Given the description of an element on the screen output the (x, y) to click on. 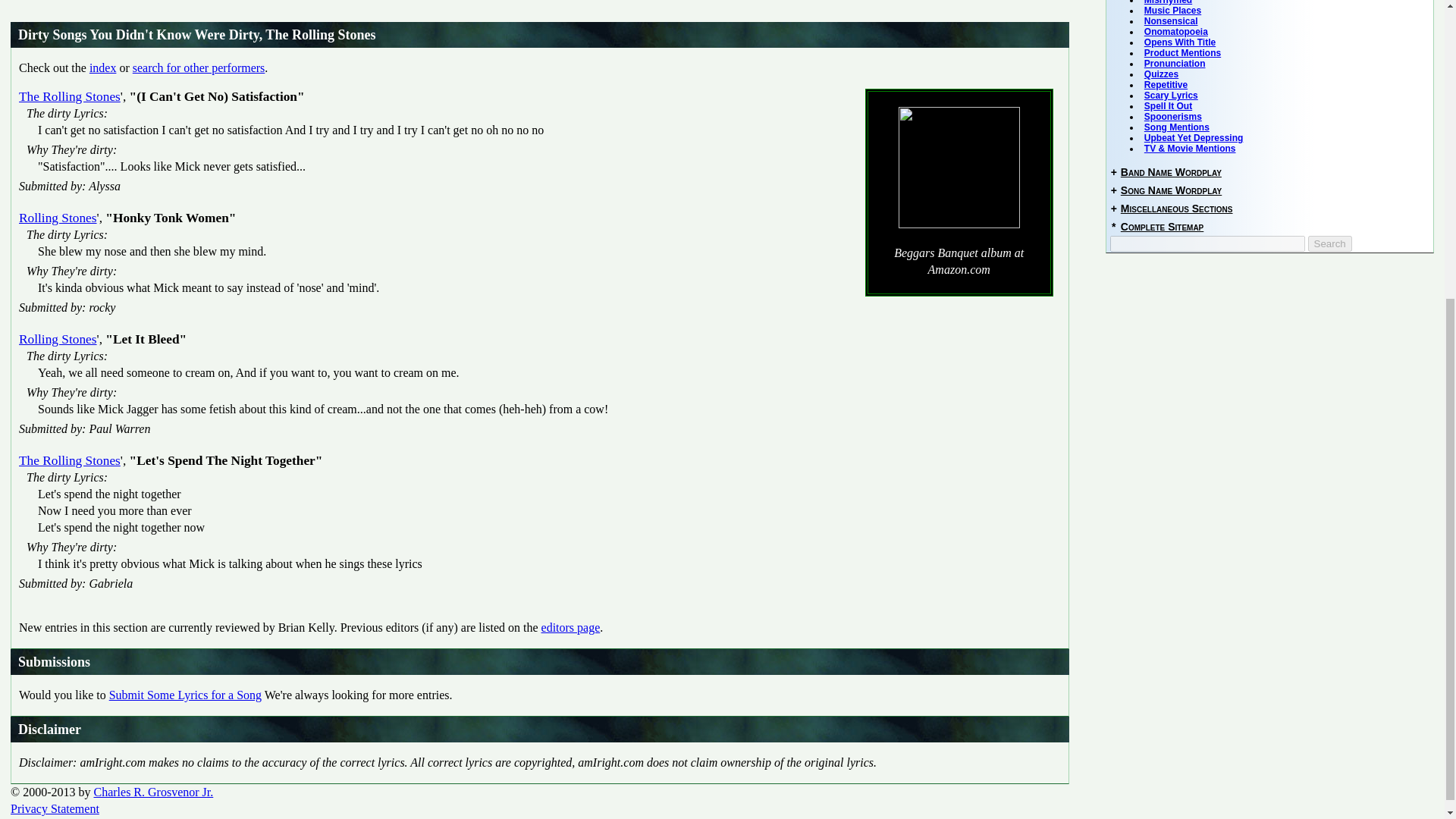
Song lyrics for The Rolling Stones (69, 96)
The Rolling Stones (69, 460)
Product Mentions (1182, 52)
Pronunciation (1174, 63)
The Rolling Stones (69, 96)
Song lyrics for Rolling Stones (57, 339)
search for other performers (198, 67)
editors page (570, 626)
Advertisement (465, 11)
Rolling Stones (57, 217)
Misrhymed (1168, 2)
Advertisement (1219, 359)
Rolling Stones (57, 339)
Opens With Title (1179, 41)
Search (1329, 243)
